Given the description of an element on the screen output the (x, y) to click on. 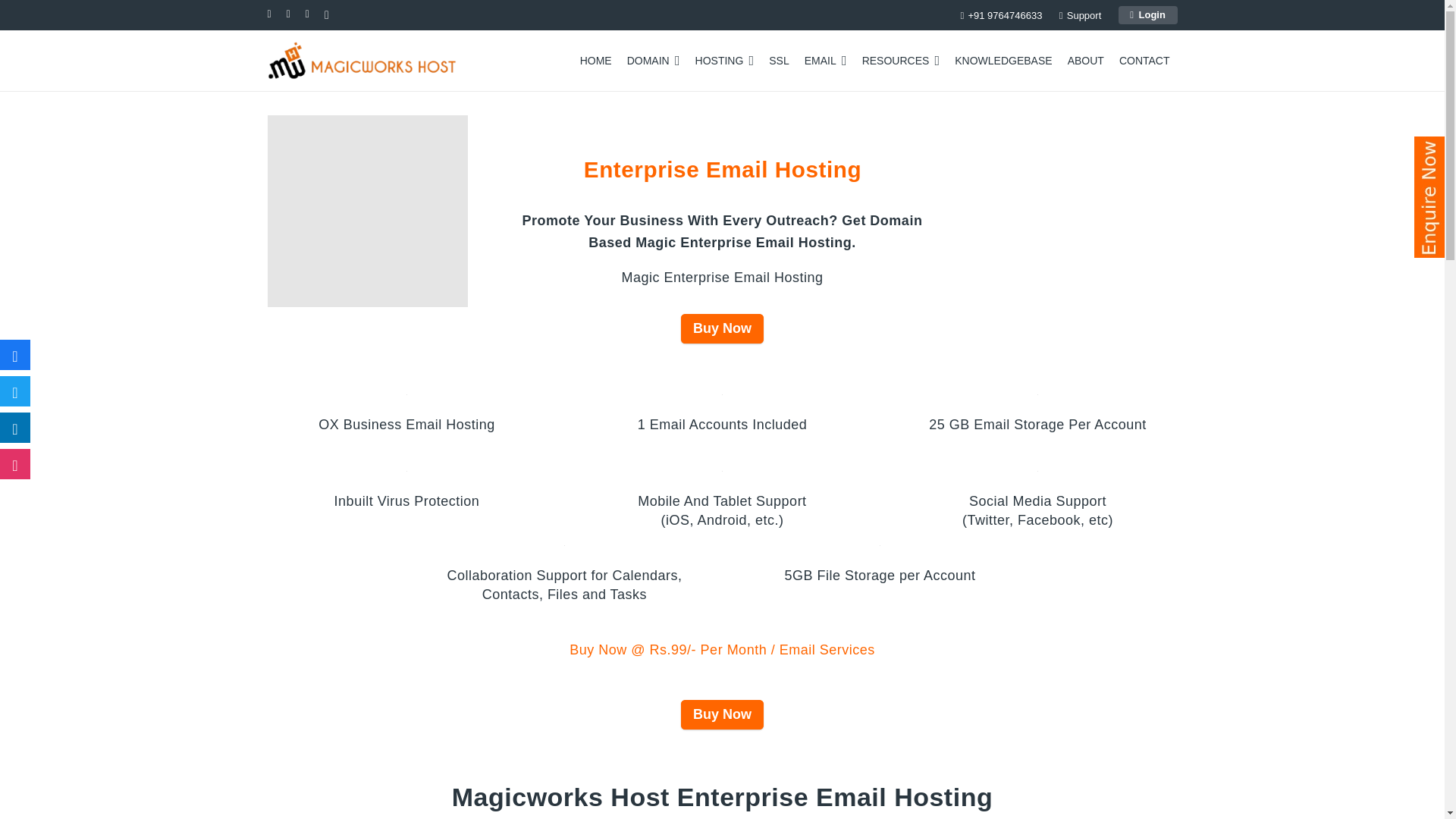
RESOURCES (900, 60)
Facebook (15, 354)
Login (1147, 14)
EMAIL (825, 60)
Instagram (15, 463)
Twitter (15, 390)
CONTACT (1144, 60)
Support (1079, 14)
DOMAIN (653, 60)
LinkedIn (15, 427)
ABOUT (1085, 60)
Buy Now (721, 328)
Buy Now (721, 714)
KNOWLEDGEBASE (1003, 60)
SSL (778, 60)
